Given the description of an element on the screen output the (x, y) to click on. 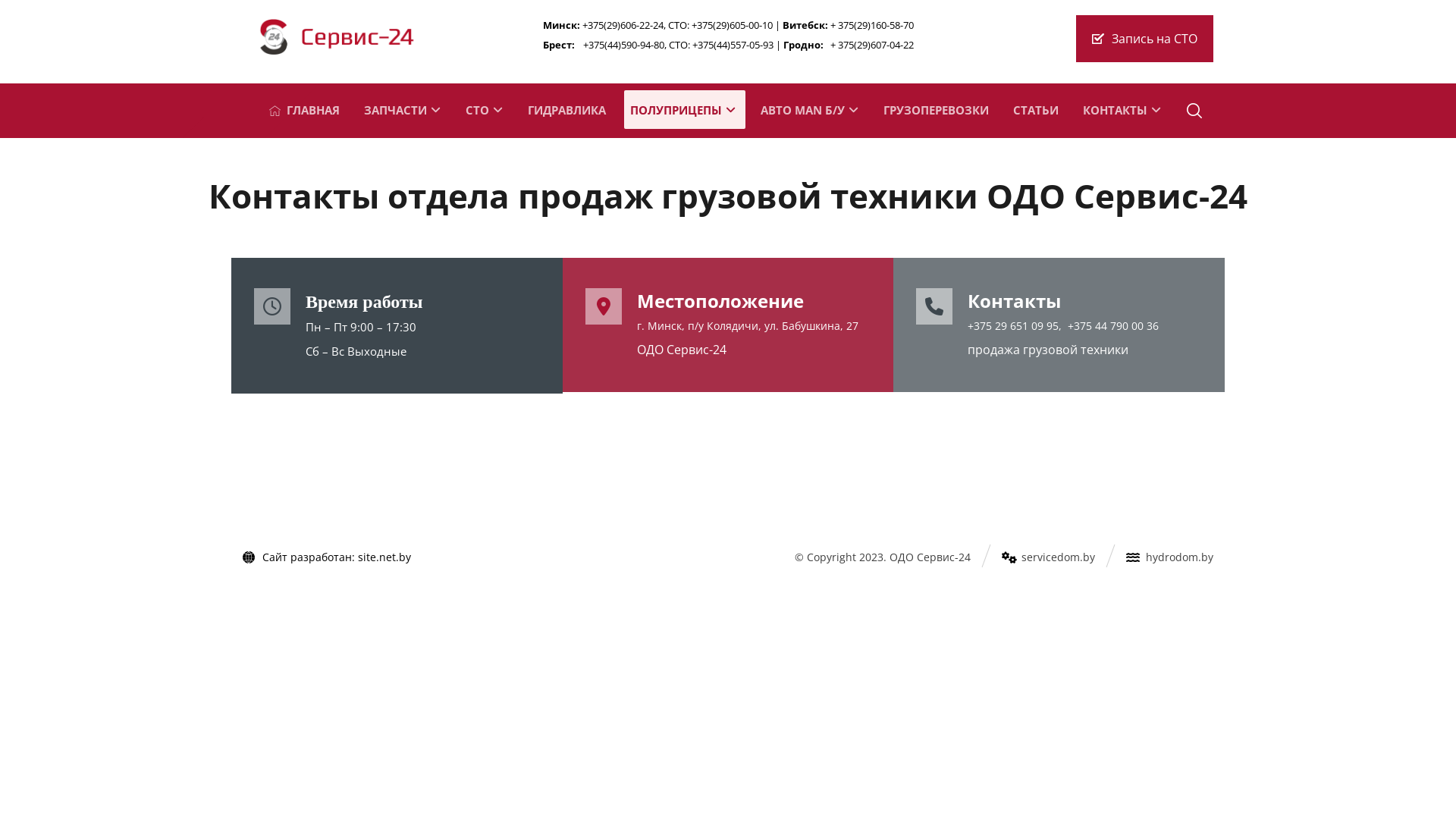
+375 29 651 09 95 Element type: text (1012, 325)
hydrodom.by Element type: text (1169, 555)
+375 44 790 00 36 Element type: text (1112, 325)
servicedom.by Element type: text (1048, 555)
